Given the description of an element on the screen output the (x, y) to click on. 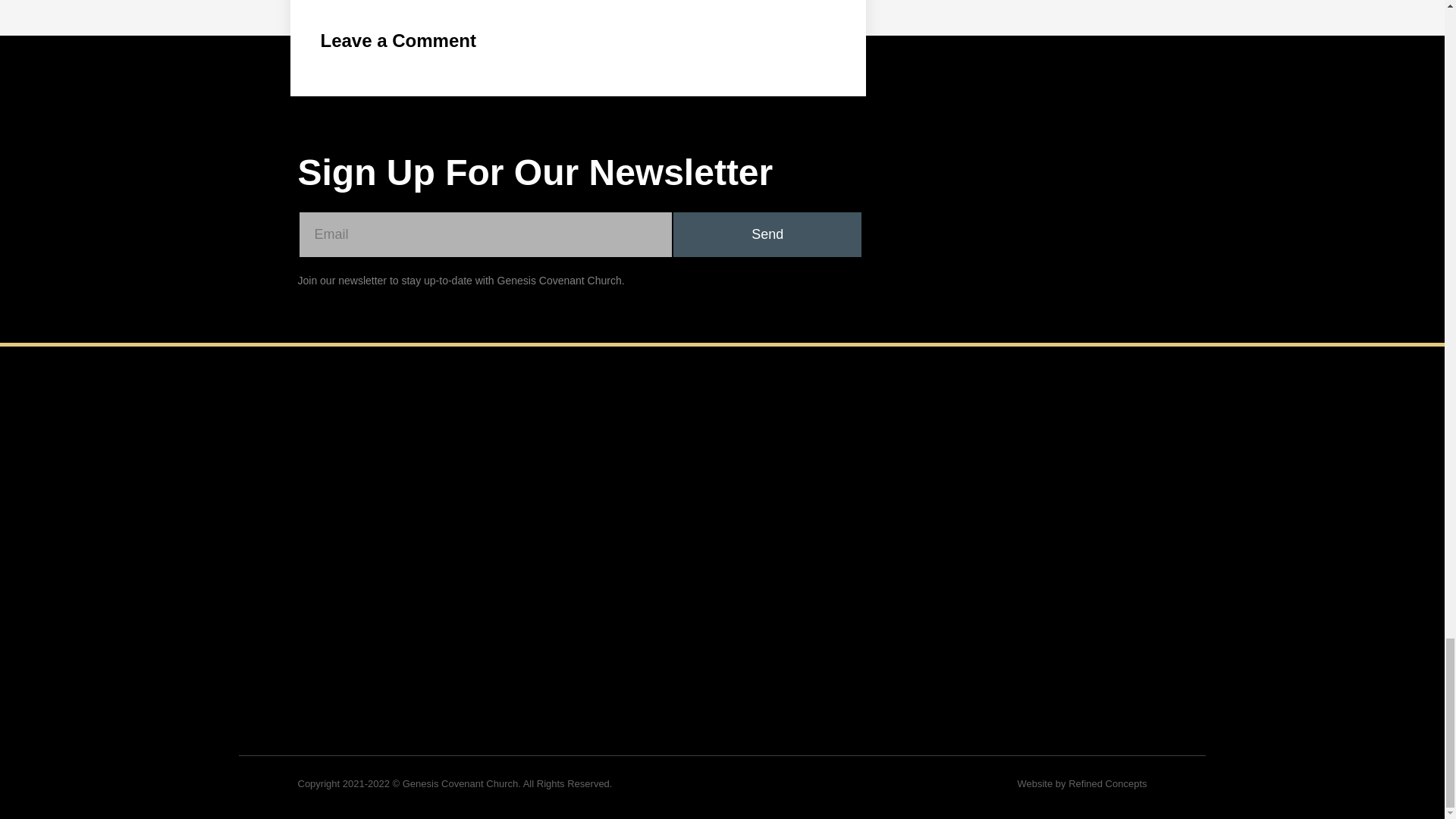
Website by Refined Concepts (1081, 783)
Send (766, 234)
